Given the description of an element on the screen output the (x, y) to click on. 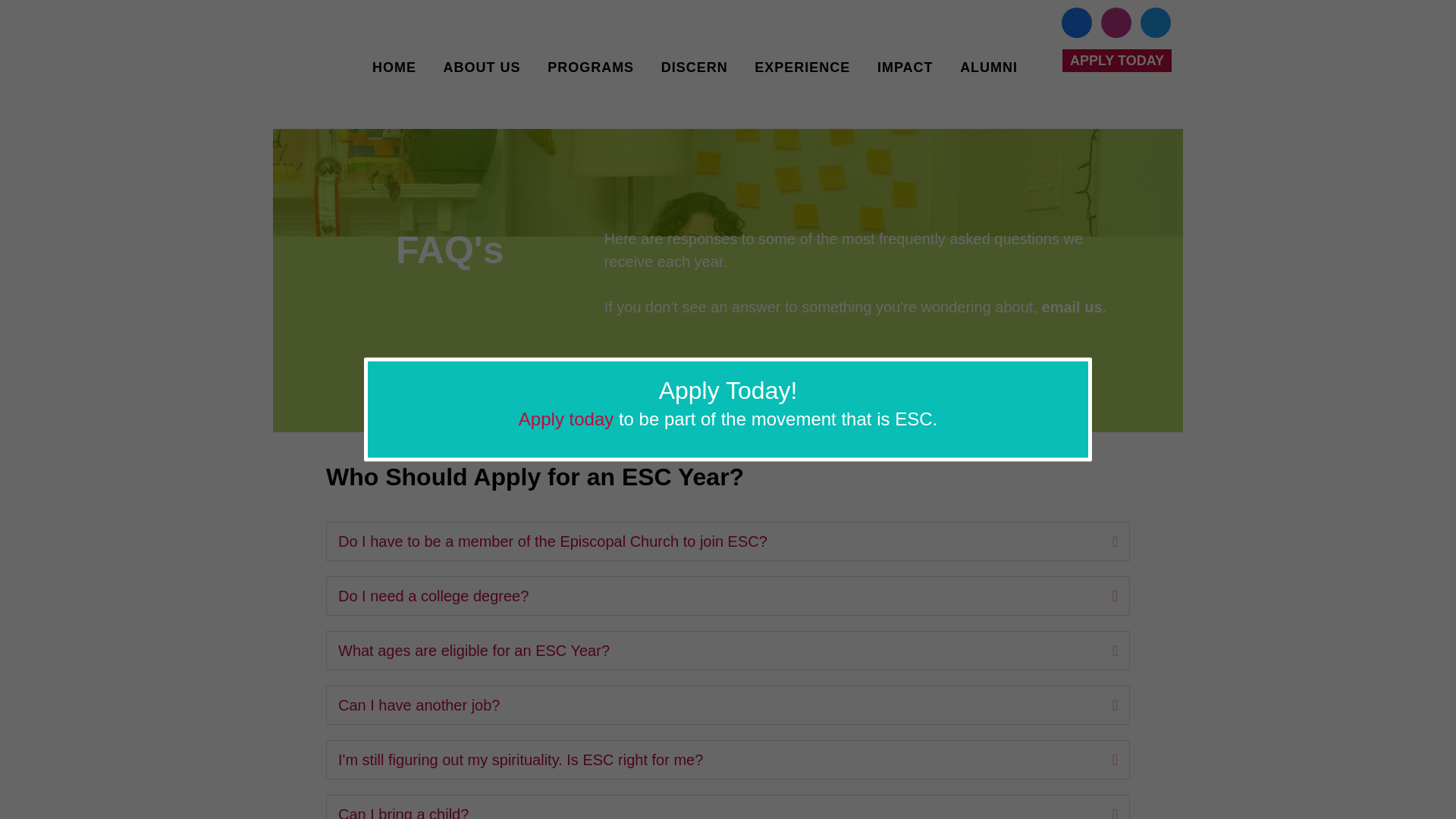
APPLY TODAY (1117, 60)
IMPACT (905, 67)
PROGRAMS (590, 67)
EXPERIENCE (801, 67)
EPISCOPAL SERVICE CORPS (317, 51)
email us (1072, 306)
ABOUT US (482, 67)
HOME (394, 67)
DISCERN (694, 67)
ALUMNI (989, 67)
Close (1083, 365)
